Given the description of an element on the screen output the (x, y) to click on. 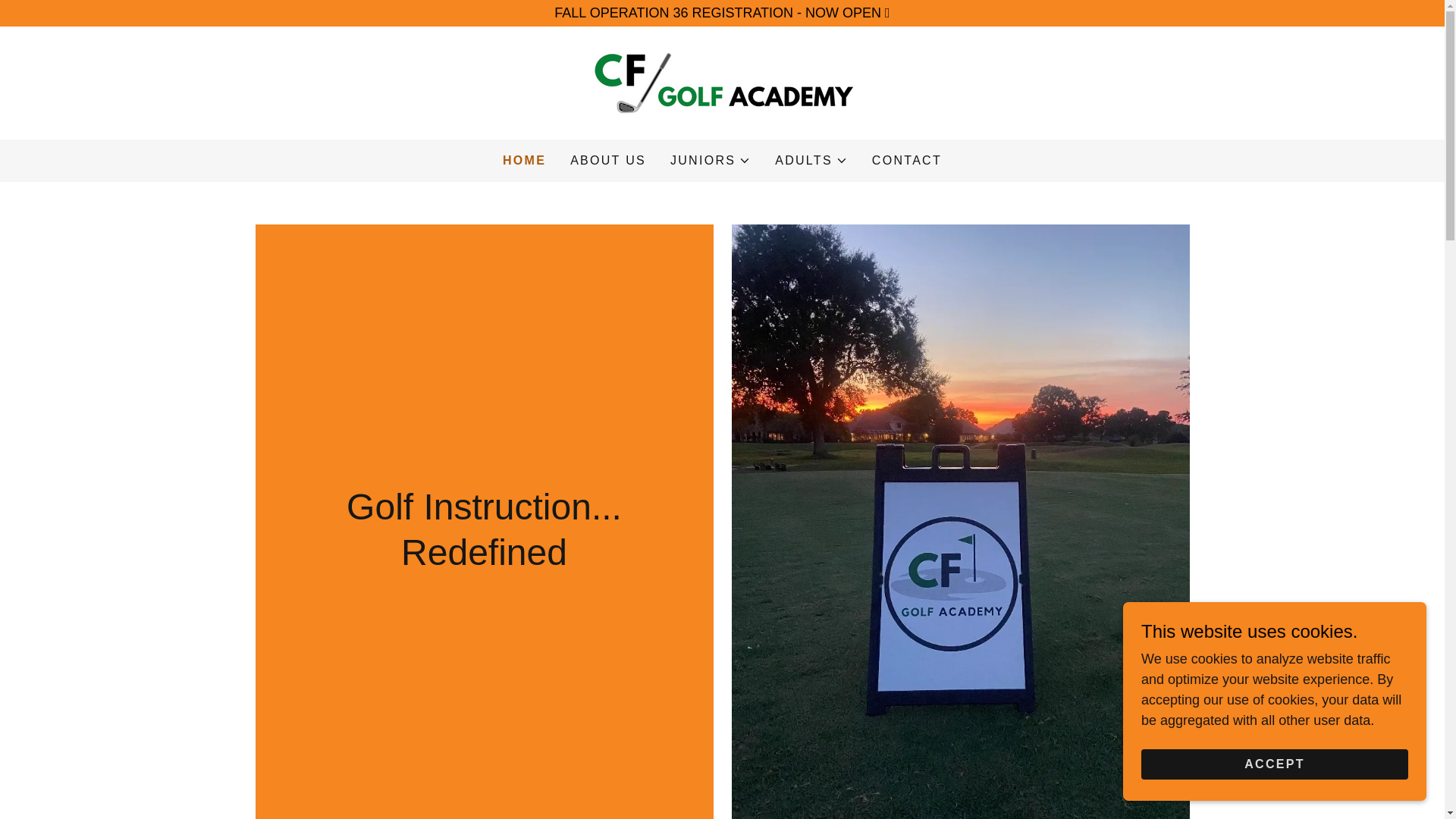
HOME (524, 160)
ADULTS (810, 160)
CF Golf Academy (722, 81)
ABOUT US (608, 160)
JUNIORS (710, 160)
CONTACT (906, 160)
